Given the description of an element on the screen output the (x, y) to click on. 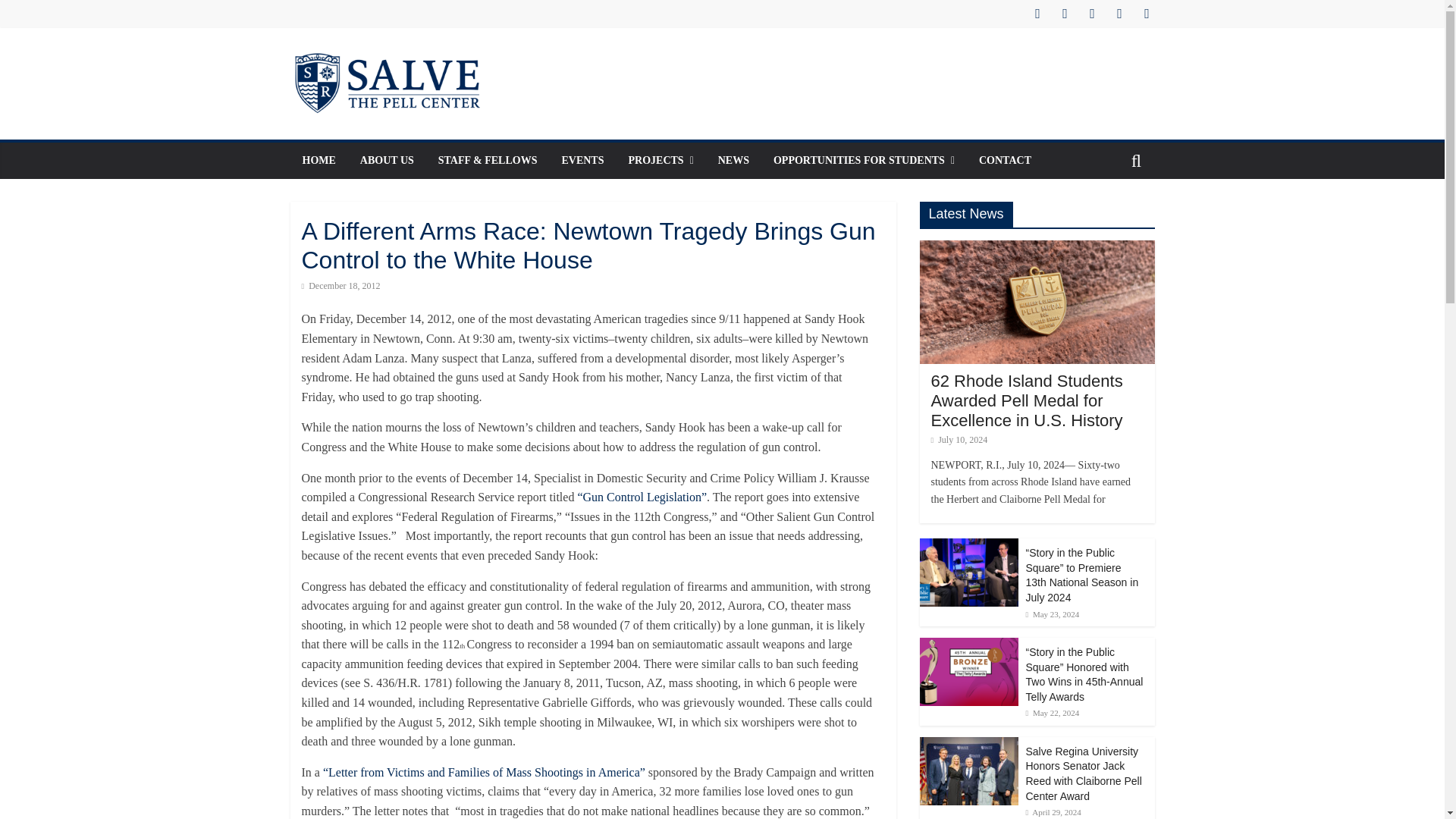
EVENTS (581, 160)
10:43 am (959, 439)
ABOUT US (386, 160)
May 22, 2024 (1051, 712)
May 23, 2024 (1051, 614)
PROJECTS (659, 160)
8:41 pm (340, 285)
July 10, 2024 (959, 439)
2:23 pm (1051, 614)
OPPORTUNITIES FOR STUDENTS (863, 160)
11:58 am (1051, 712)
